Given the description of an element on the screen output the (x, y) to click on. 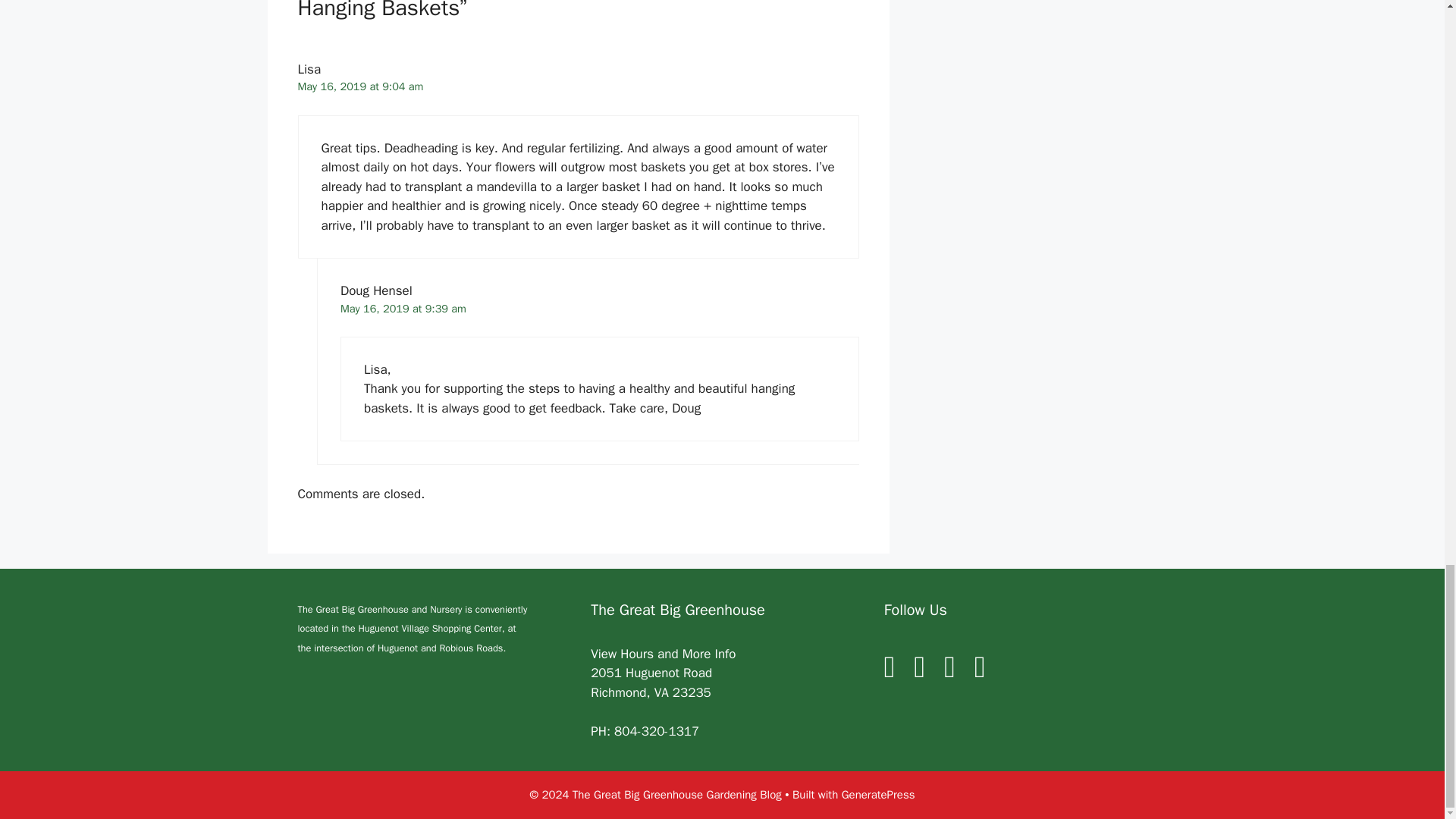
804-320-1317 (656, 731)
May 16, 2019 at 9:39 am (402, 308)
The Great Big Greenhouse and Nursery (379, 609)
View Hours and More Info (663, 653)
GeneratePress (878, 794)
May 16, 2019 at 9:04 am (360, 86)
